Given the description of an element on the screen output the (x, y) to click on. 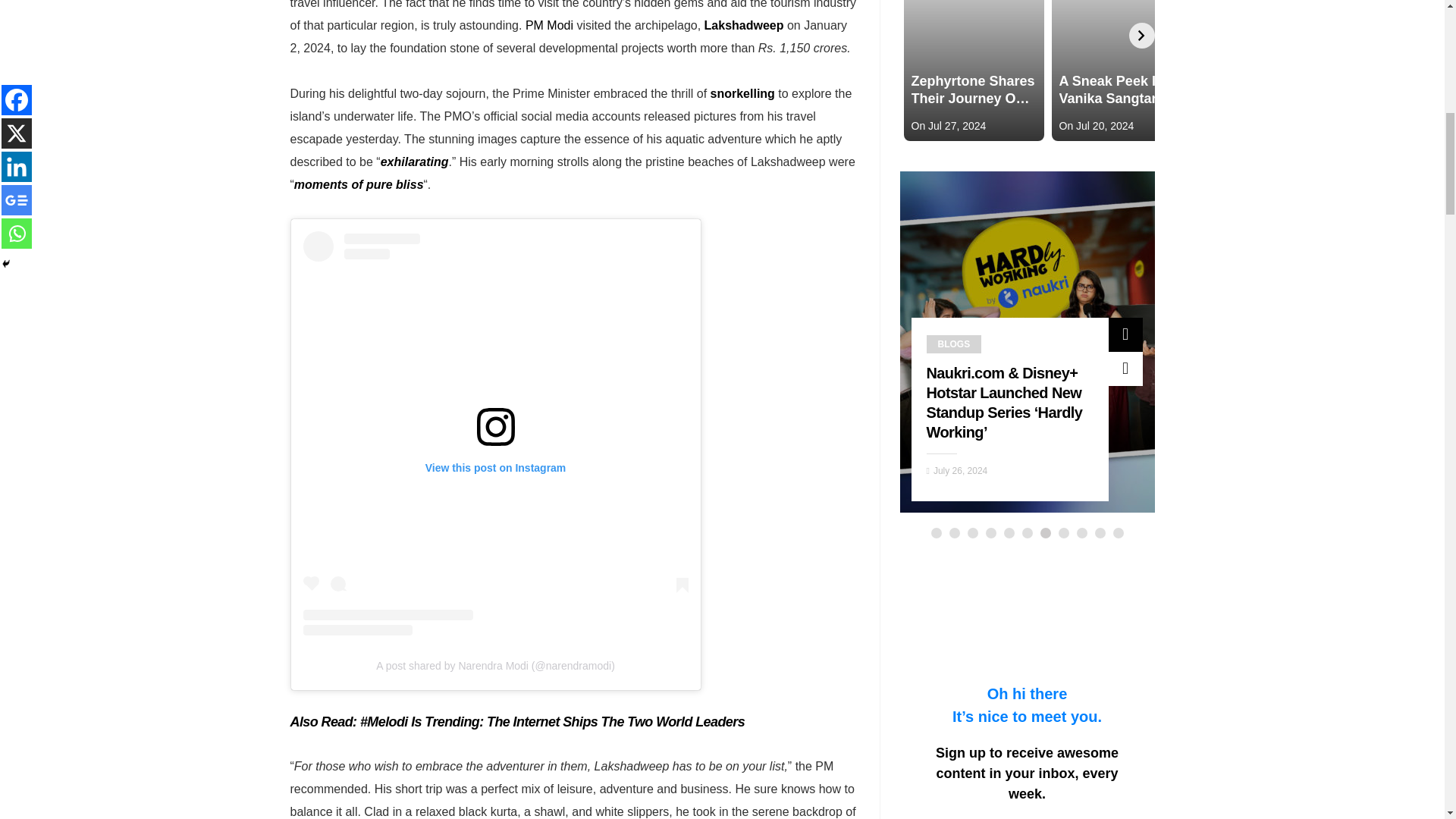
PM Modi (549, 24)
